Given the description of an element on the screen output the (x, y) to click on. 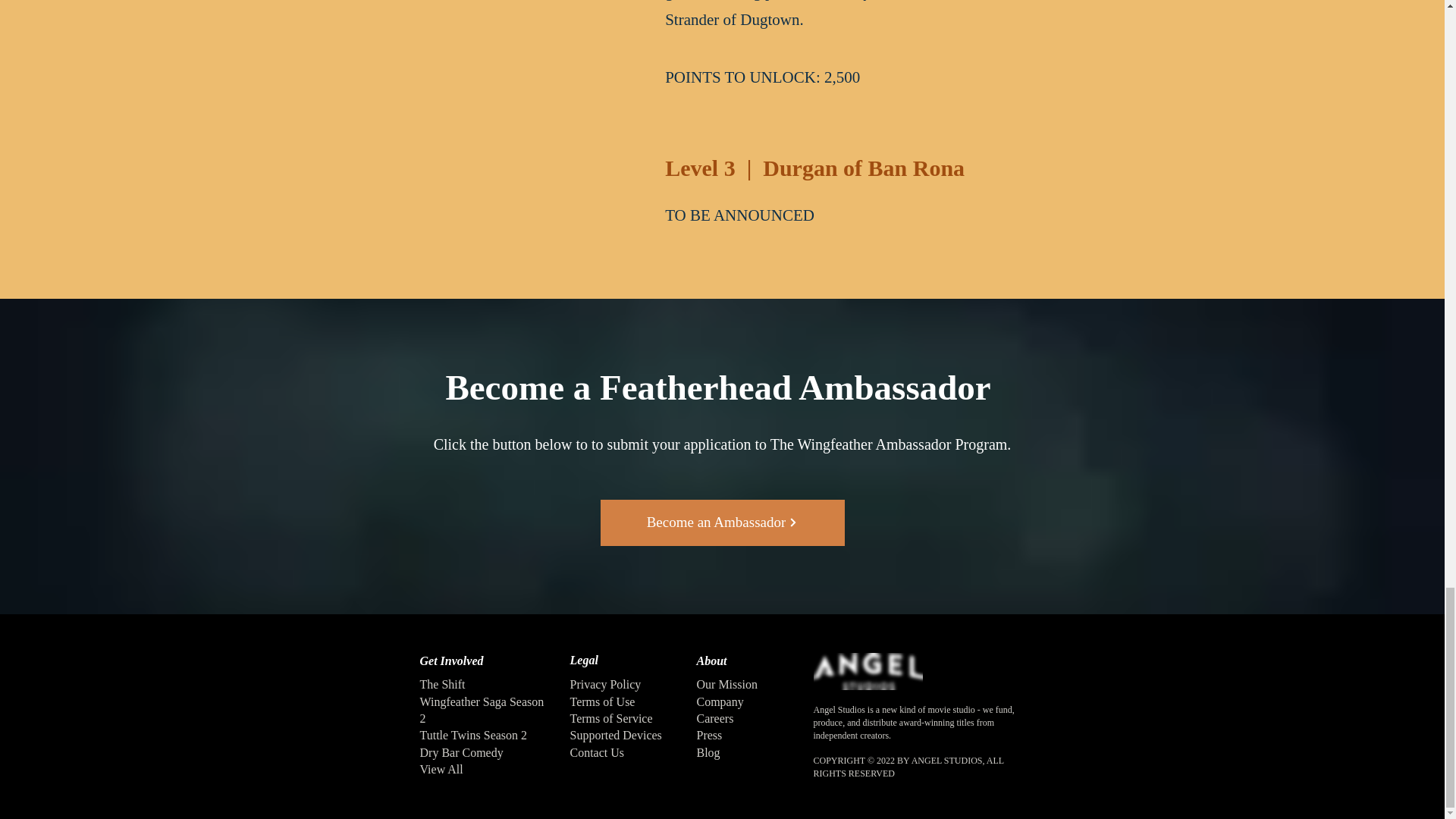
Terms of Use (602, 700)
Supported Devices (616, 735)
The Shift (442, 684)
Become an Ambassador (721, 522)
Company (718, 700)
Privacy Policy (606, 684)
Contact Us (597, 752)
Our Mission (726, 684)
View All (441, 768)
Blog (707, 752)
